Given the description of an element on the screen output the (x, y) to click on. 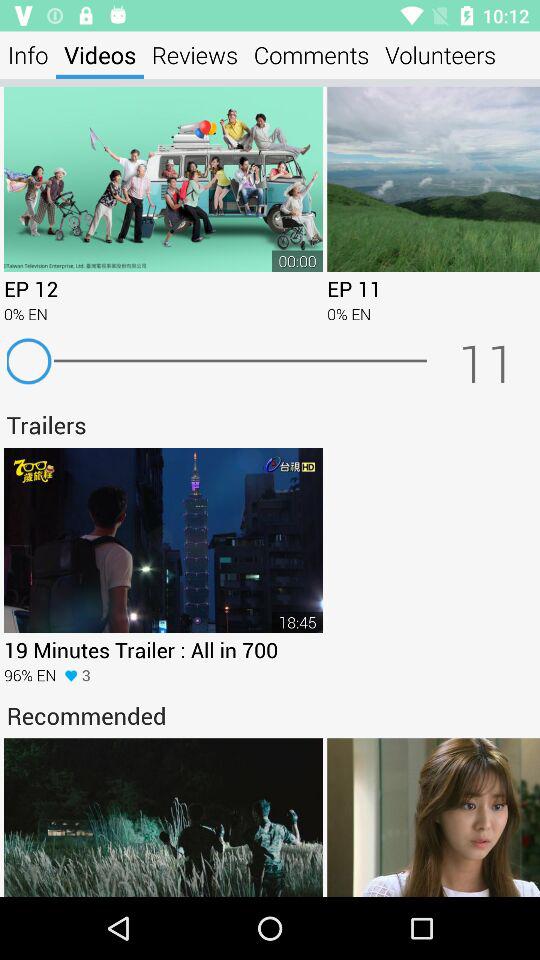
jump to the volunteers app (440, 54)
